Given the description of an element on the screen output the (x, y) to click on. 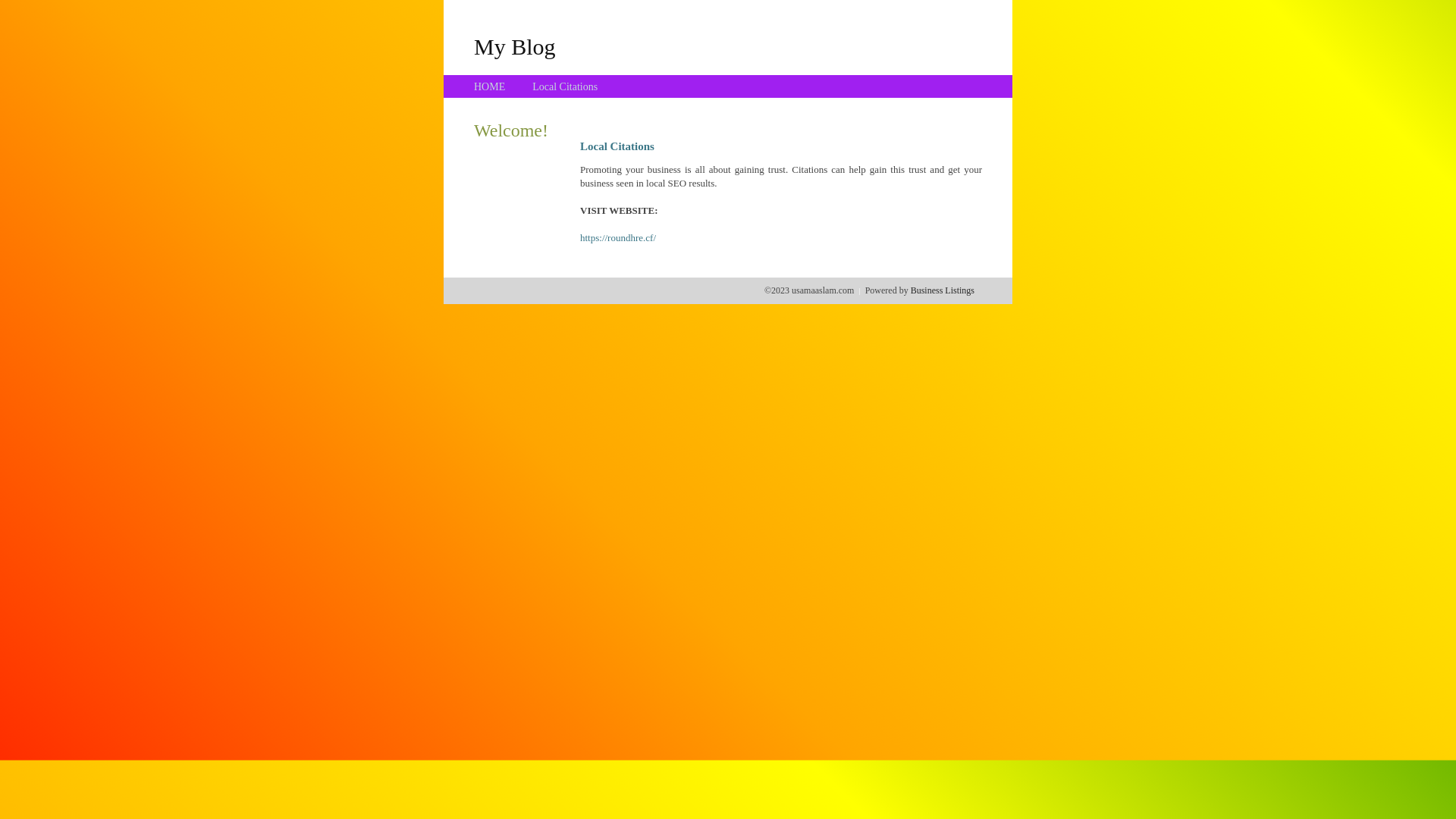
My Blog Element type: text (514, 46)
Local Citations Element type: text (564, 86)
HOME Element type: text (489, 86)
Business Listings Element type: text (942, 290)
https://roundhre.cf/ Element type: text (617, 237)
